Given the description of an element on the screen output the (x, y) to click on. 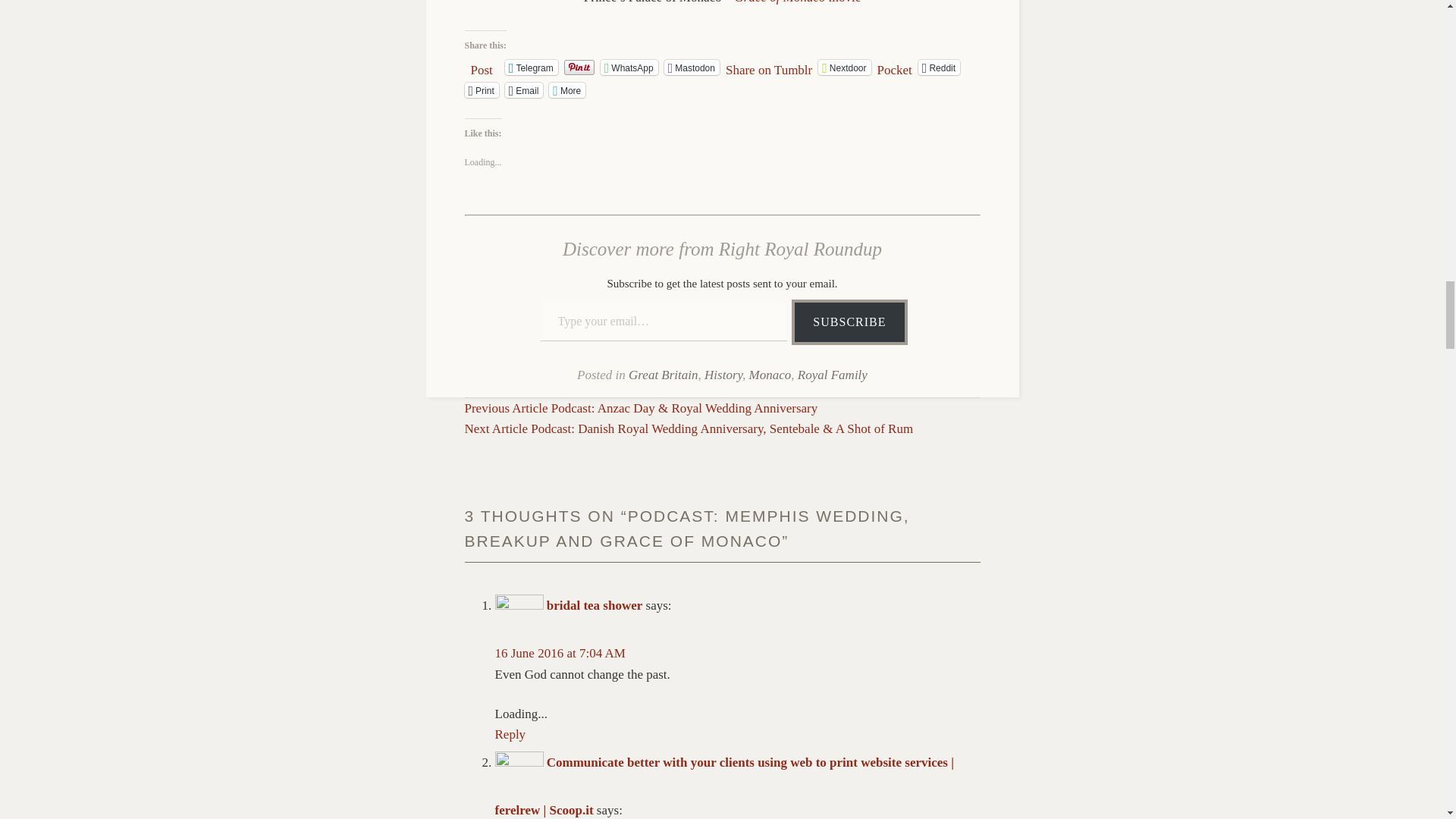
Grace of Monaco movie (798, 2)
History (723, 374)
Click to email a link to a friend (524, 89)
Pocket (894, 69)
Click to print (480, 89)
Grace of Monaco movie (798, 2)
Great Britain (662, 374)
Print (480, 89)
Click to share on Reddit (938, 67)
Please fill in this field. (663, 322)
